Given the description of an element on the screen output the (x, y) to click on. 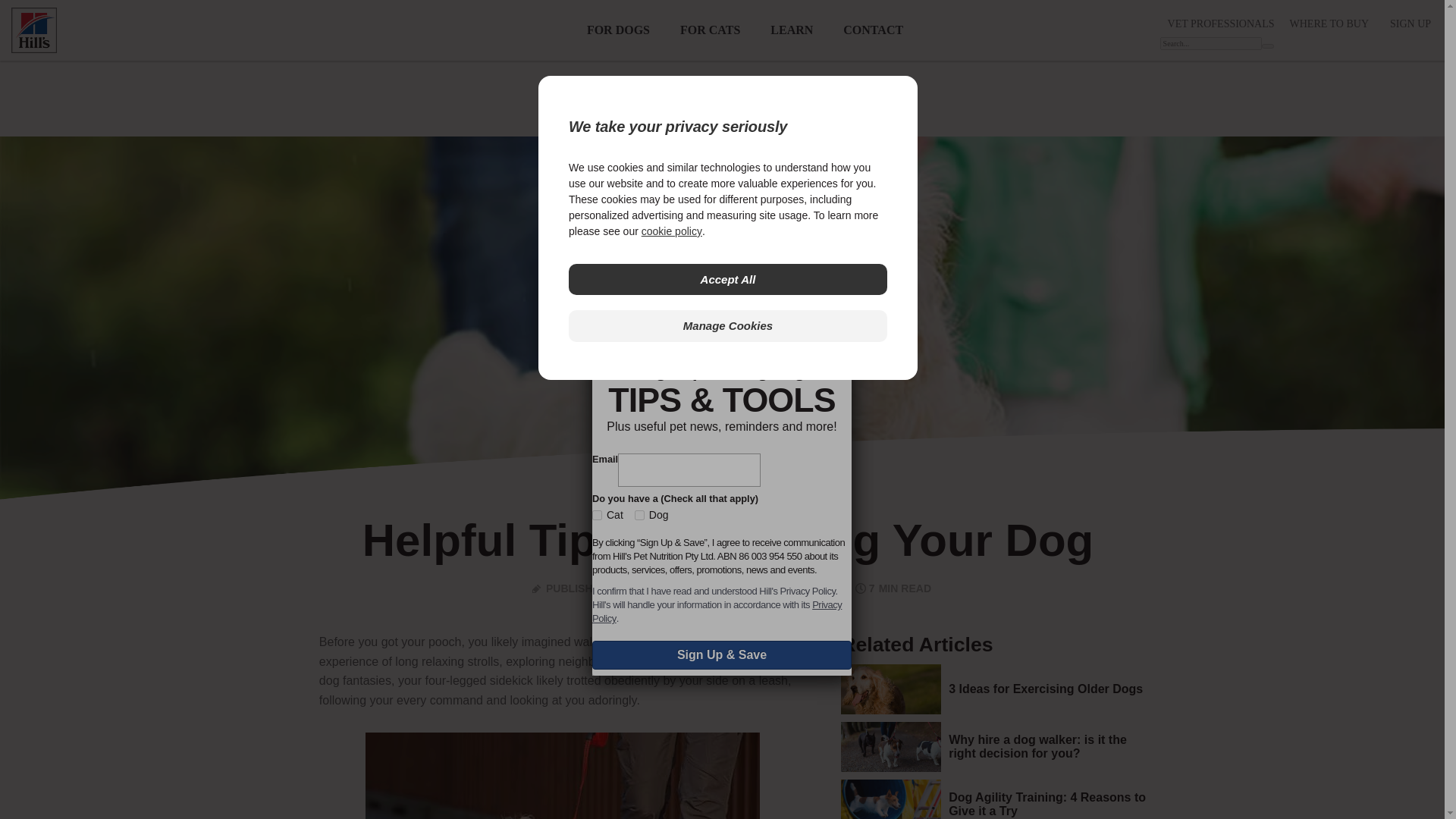
person-walking-long-haired-shih-tzu (562, 775)
Accept All (727, 278)
Manage Cookies (727, 325)
cookie policy (671, 231)
Dog (639, 515)
Cat (597, 515)
Authors and Contributors (667, 588)
